Given the description of an element on the screen output the (x, y) to click on. 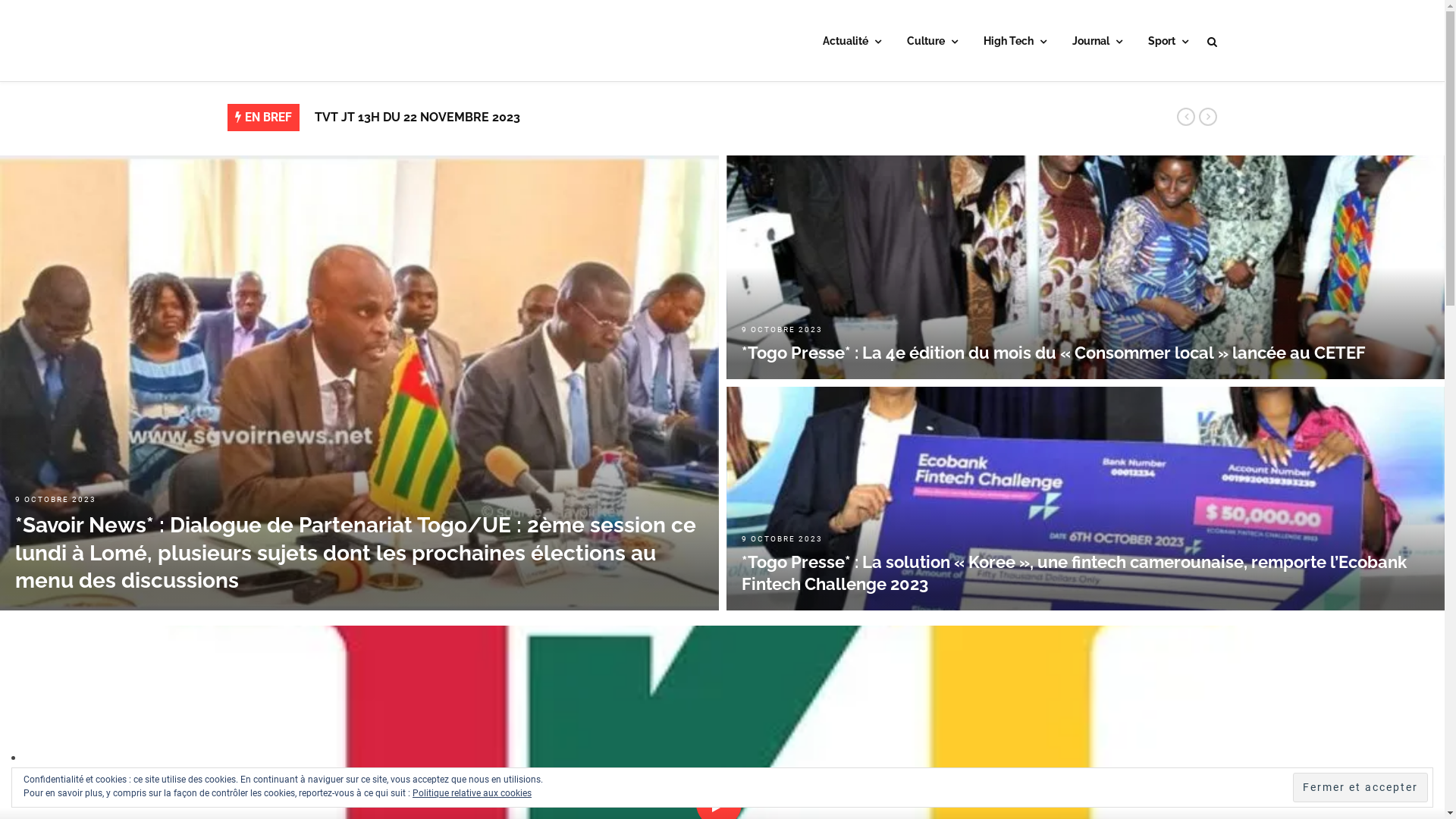
Culture Element type: text (932, 42)
Next Element type: text (1207, 116)
9 OCTOBRE 2023 Element type: text (781, 538)
Politique relative aux cookies Element type: text (471, 792)
9 OCTOBRE 2023 Element type: text (55, 499)
High Tech Element type: text (1014, 42)
9 OCTOBRE 2023 Element type: text (781, 329)
TVT JT 20H DU 21 NOVEMBRE 2023 Element type: text (417, 113)
Journal Element type: text (1096, 42)
Prev Element type: text (1185, 116)
Sport Element type: text (1167, 42)
JOURNAL DE L'ECONOMIE DU 14 NOVEMBRE 2023 Element type: text (460, 138)
Fermer et accepter Element type: text (1359, 787)
